Given the description of an element on the screen output the (x, y) to click on. 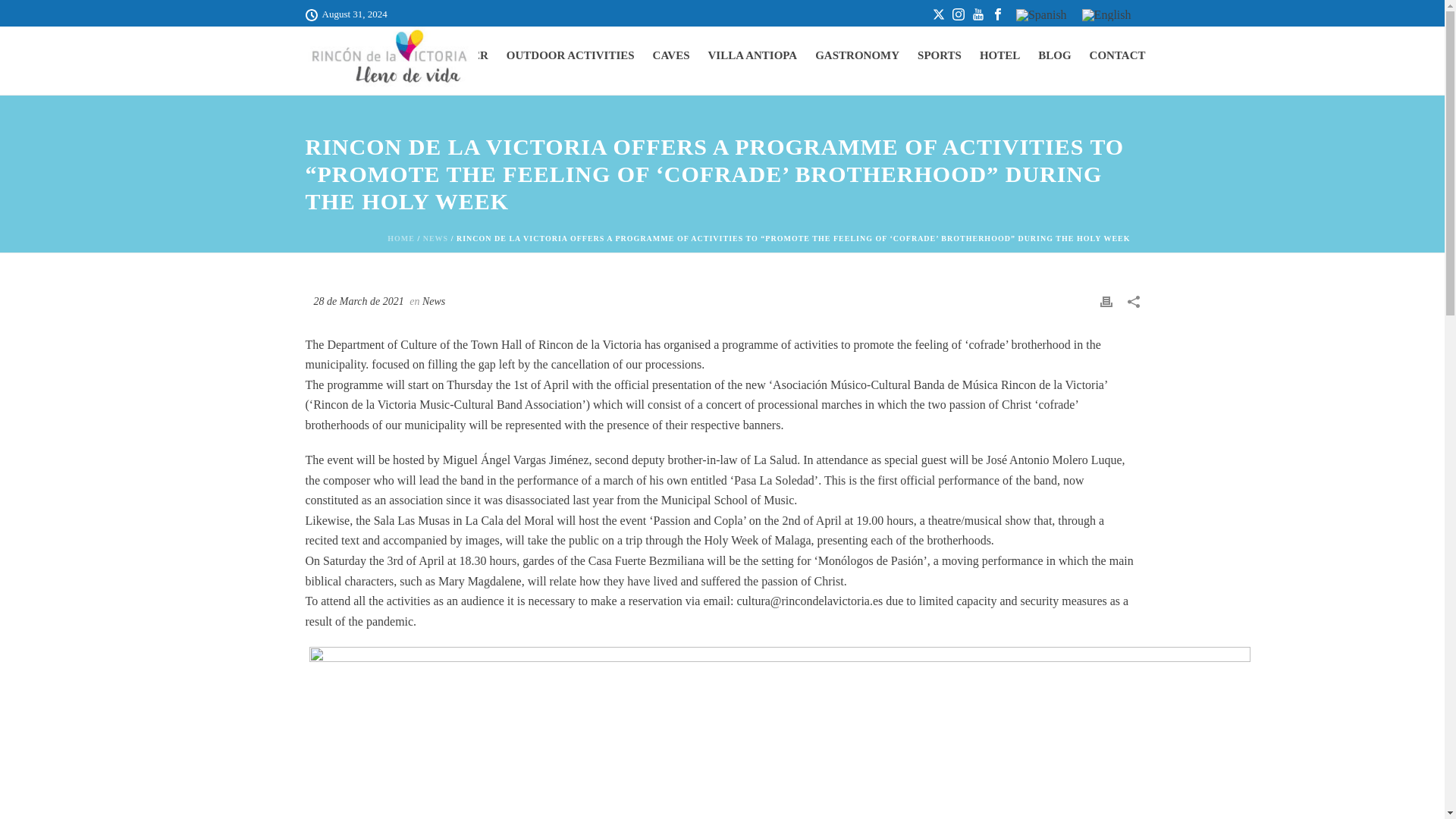
BLOG (1054, 54)
VILLA ANTIOPA (752, 54)
CAVES (670, 54)
CONTACT (1117, 54)
DISCOVER (458, 54)
BLOG (1054, 54)
TOWN (392, 54)
HOTEL (1000, 54)
HOTEL (1000, 54)
DISCOVER (458, 54)
